Given the description of an element on the screen output the (x, y) to click on. 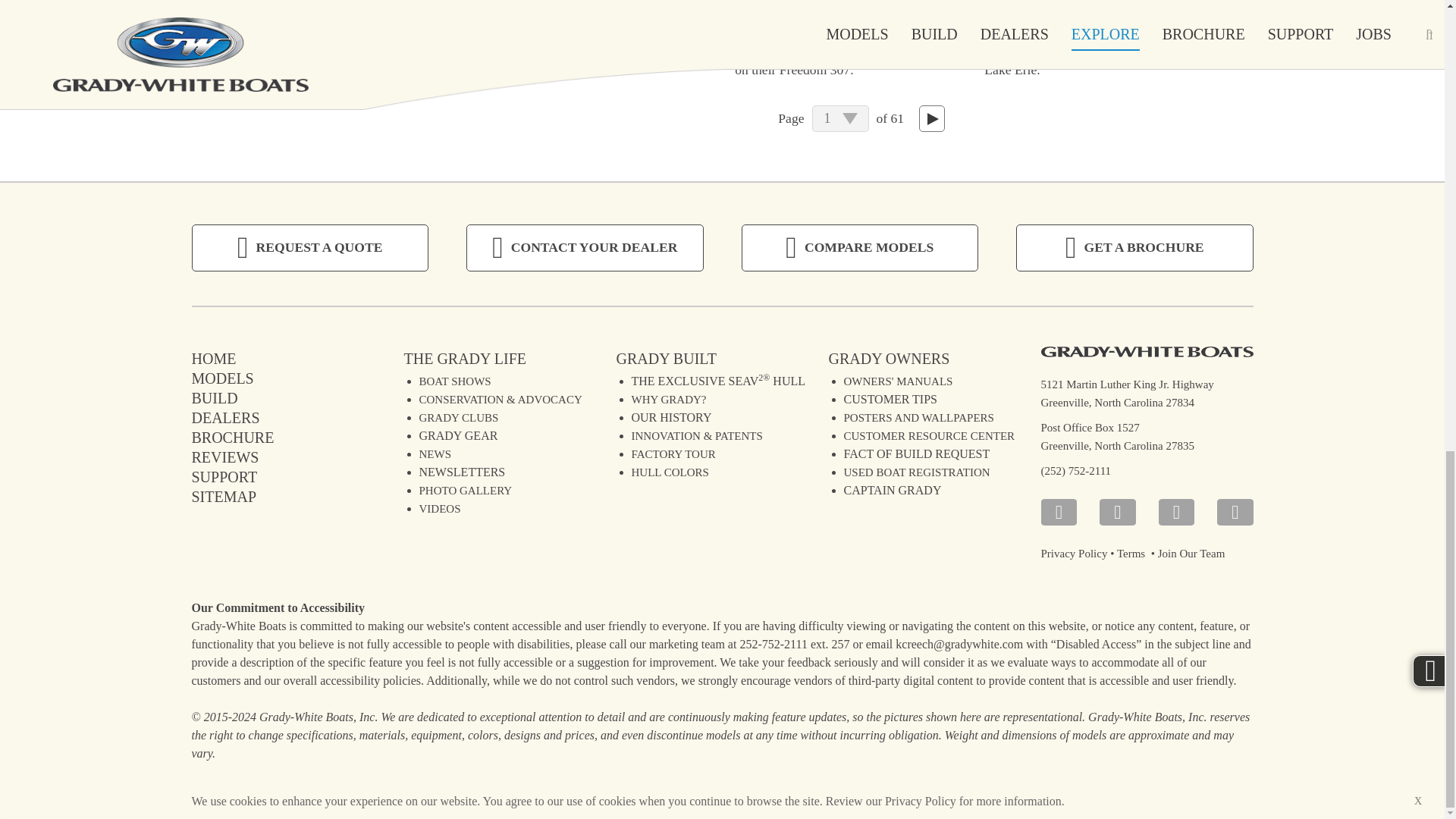
News (435, 453)
Photo Gallery (465, 490)
Grady Clubs (458, 417)
Boat Shows (454, 381)
GradyWhite.com (212, 357)
Models (221, 377)
Brochure (231, 436)
Newsletters (462, 471)
Customer Reviews (224, 456)
Build (213, 397)
Sitemap (223, 495)
SUPPORT (223, 475)
Dealers (224, 416)
